Given the description of an element on the screen output the (x, y) to click on. 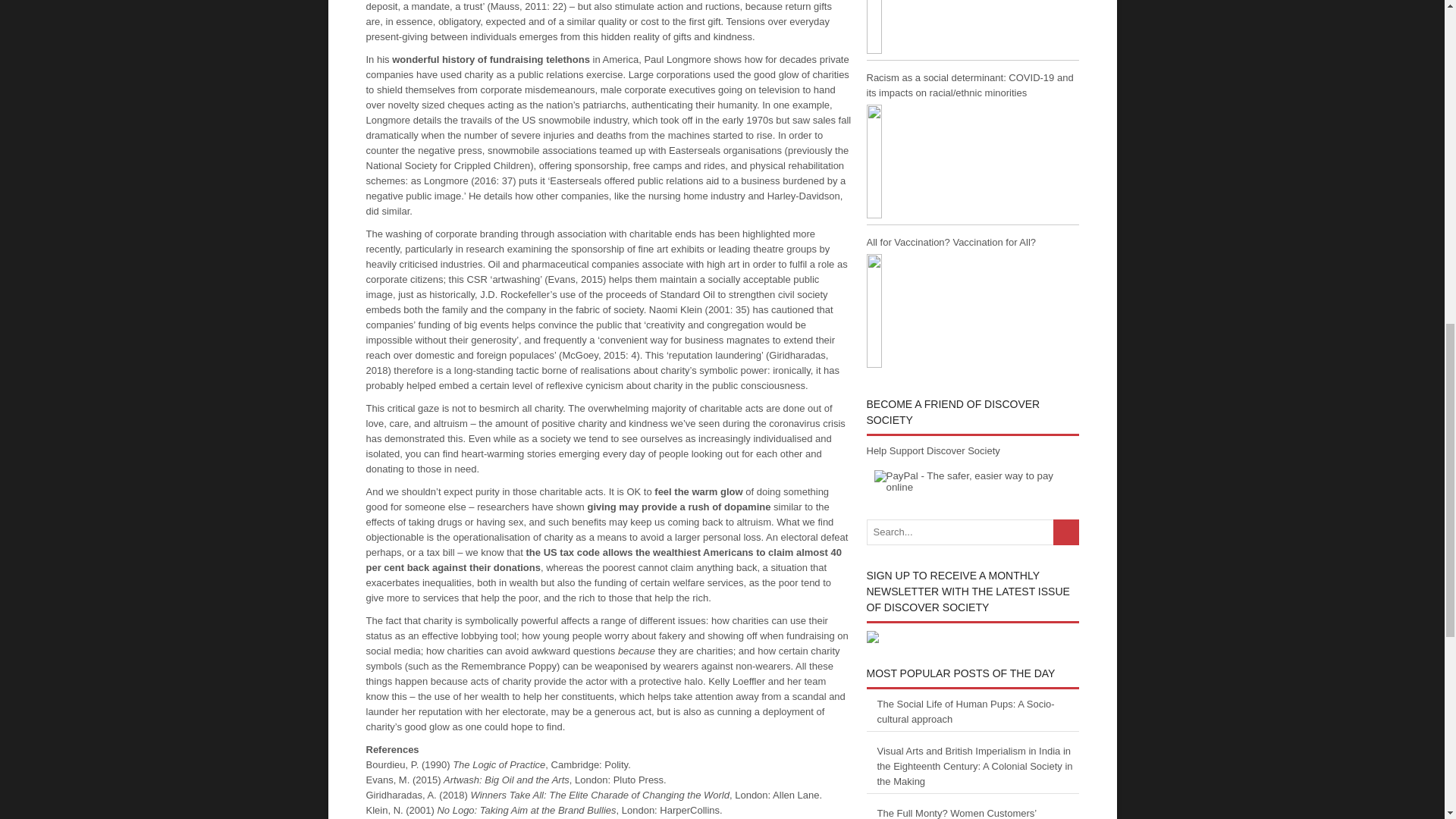
feel the warm glow (697, 490)
wonderful history of fundraising telethons (490, 58)
giving may provide a rush of dopamine (678, 505)
